Given the description of an element on the screen output the (x, y) to click on. 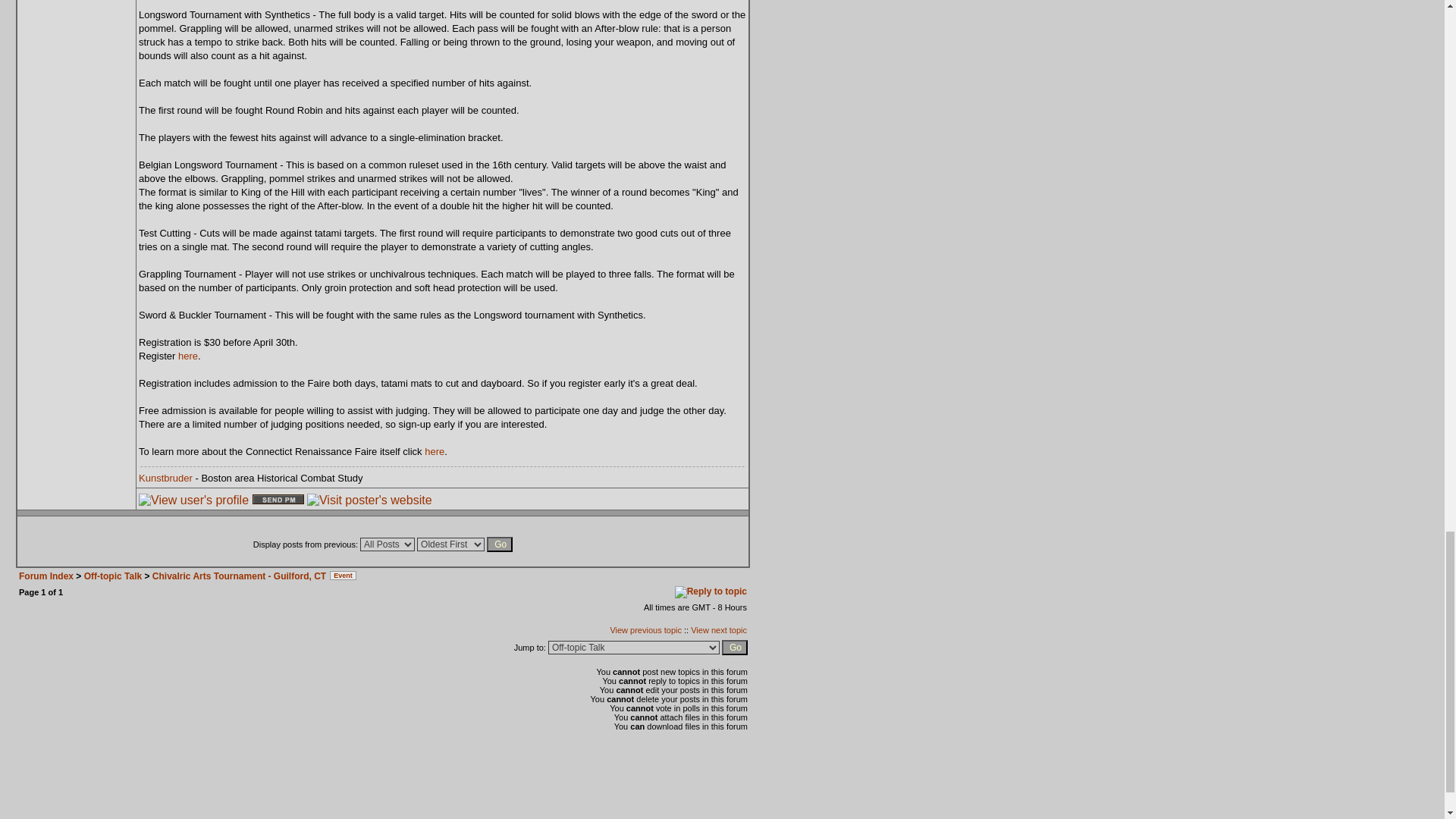
Go (499, 544)
here (187, 355)
View user's profile (193, 499)
Visit poster's website (369, 499)
Send private message (276, 499)
Go (735, 647)
